Given the description of an element on the screen output the (x, y) to click on. 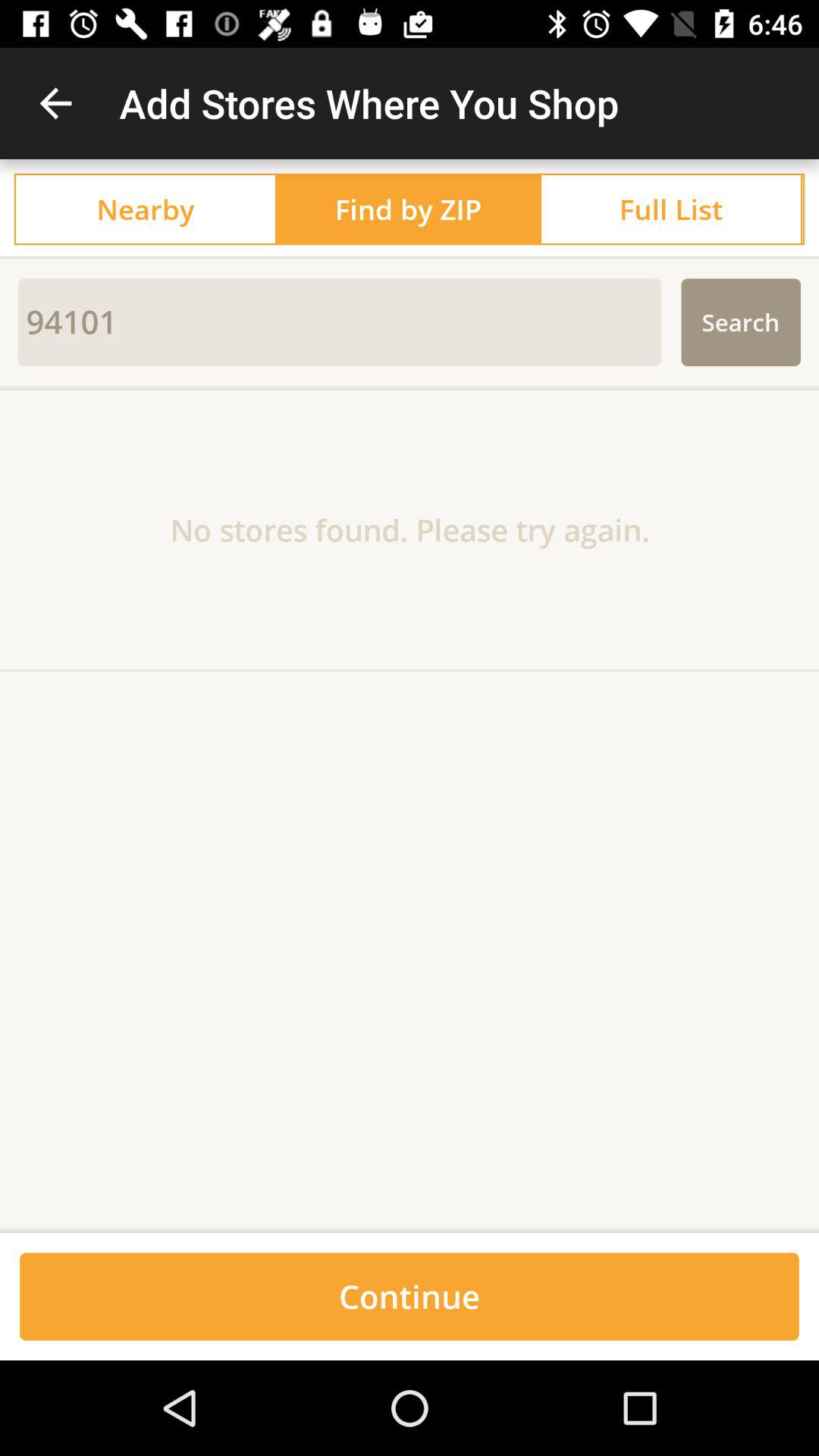
open the item below nearby (409, 257)
